Given the description of an element on the screen output the (x, y) to click on. 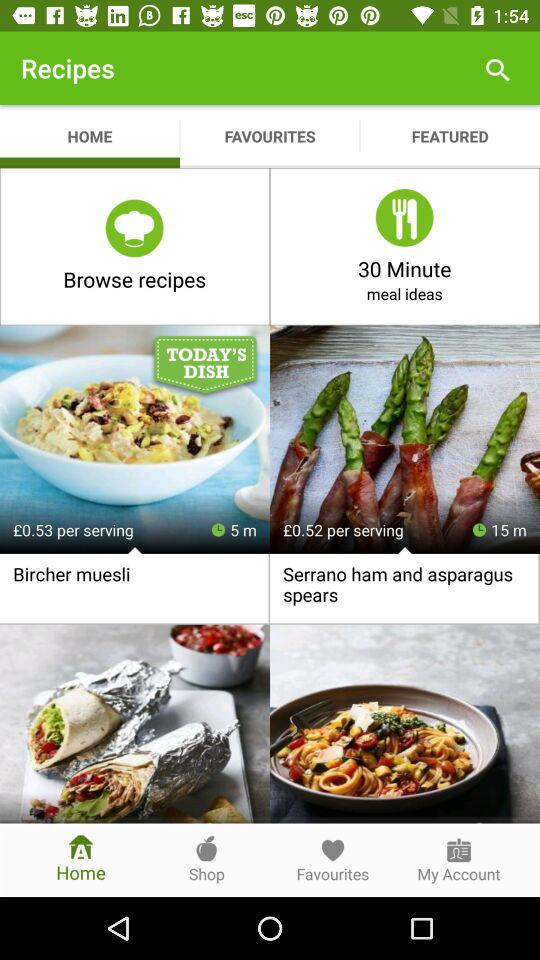
flip to featured item (450, 136)
